Given the description of an element on the screen output the (x, y) to click on. 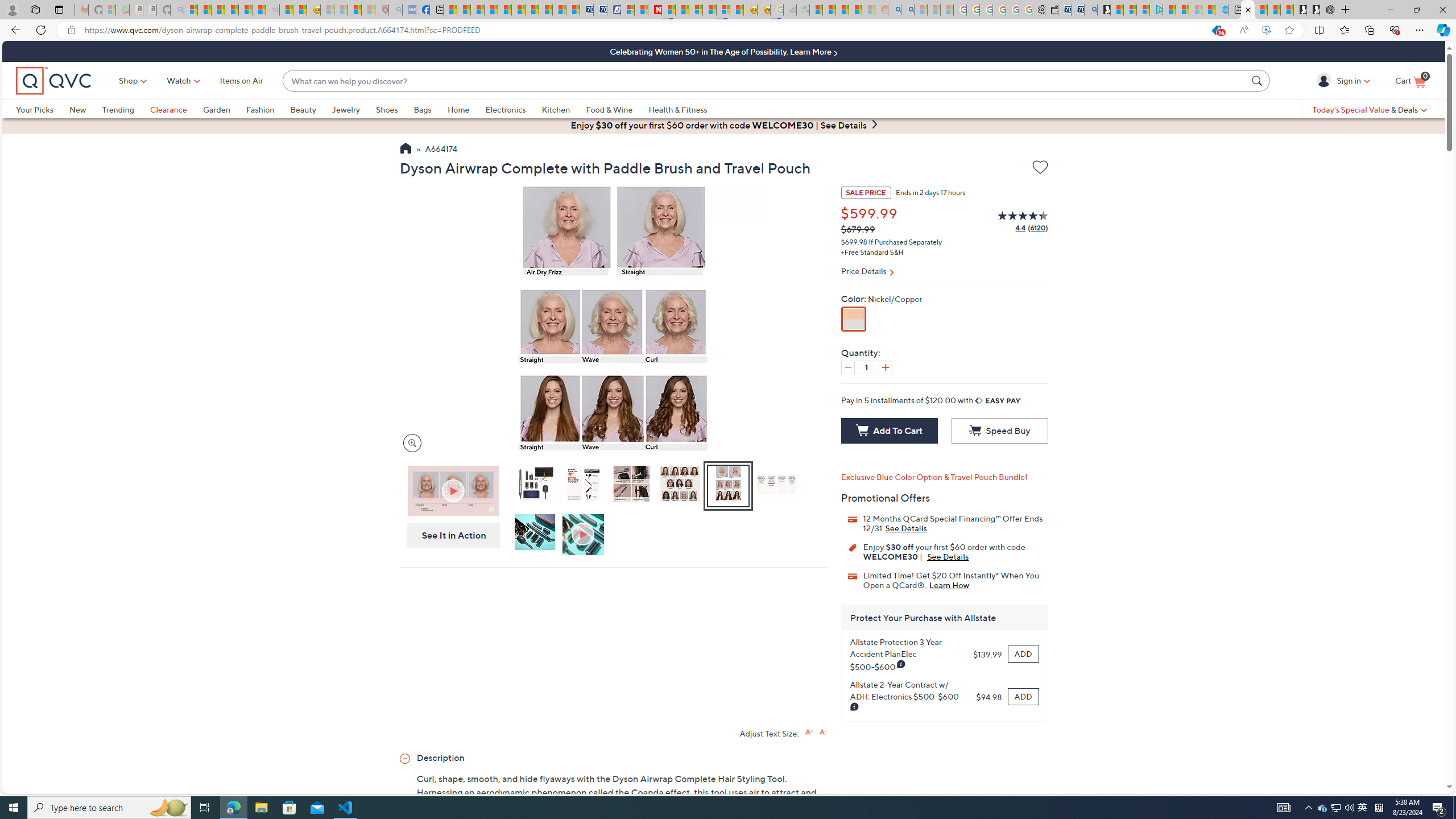
Trending (117, 109)
Increase quantity by 1 (884, 367)
Dyson Airwrap Complete with Paddle Brush and Travel Pouch (534, 485)
Add to Wish List (1040, 167)
